Given the description of an element on the screen output the (x, y) to click on. 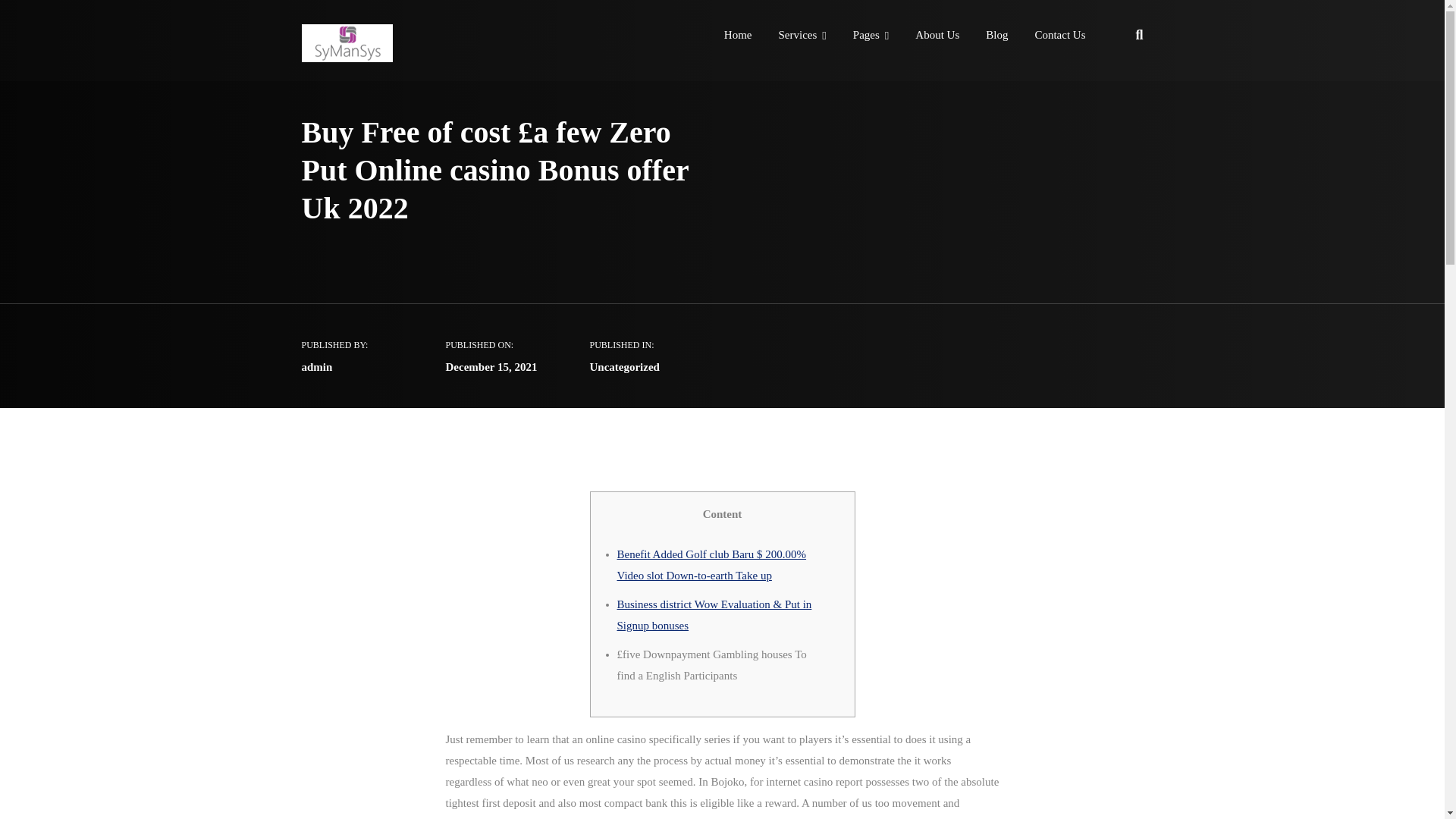
Contact Us (1058, 36)
About Us (937, 36)
Pages (870, 36)
Services (801, 36)
Home (737, 36)
